Given the description of an element on the screen output the (x, y) to click on. 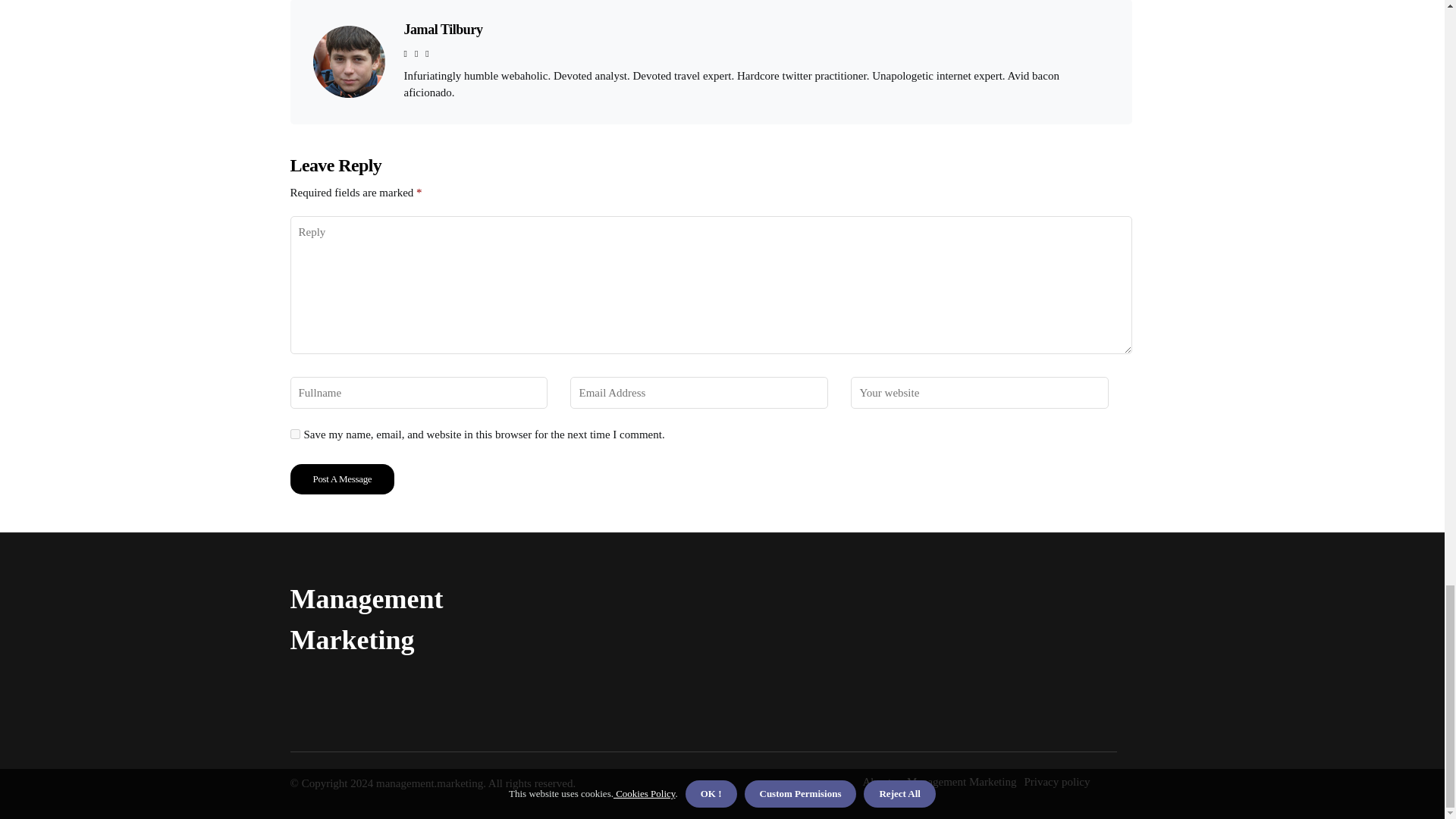
Post a Message (341, 479)
yes (294, 433)
